Given the description of an element on the screen output the (x, y) to click on. 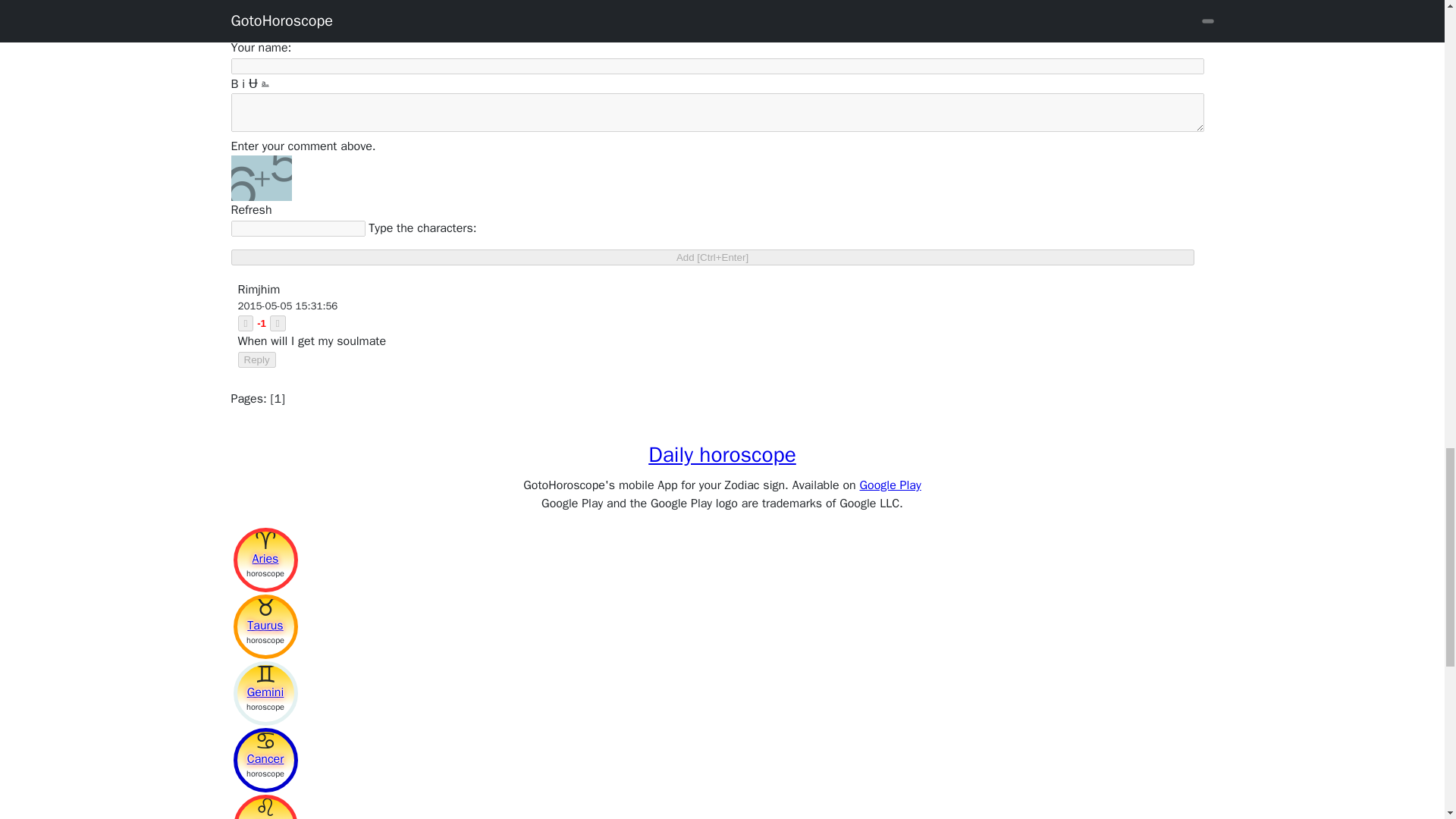
Reply (257, 359)
Refresh (250, 209)
